Given the description of an element on the screen output the (x, y) to click on. 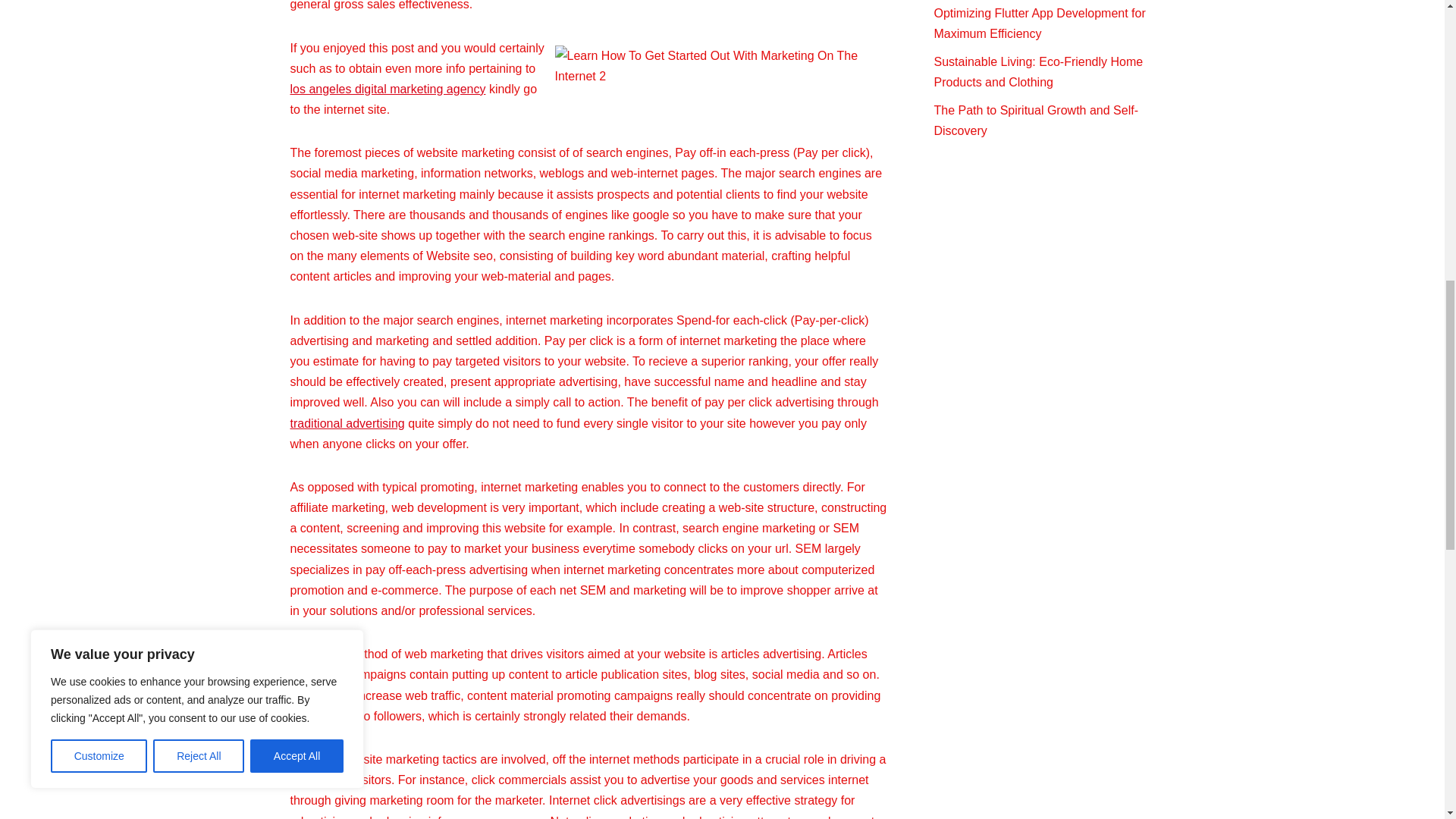
traditional advertising (346, 422)
los angeles digital marketing agency (386, 88)
